Given the description of an element on the screen output the (x, y) to click on. 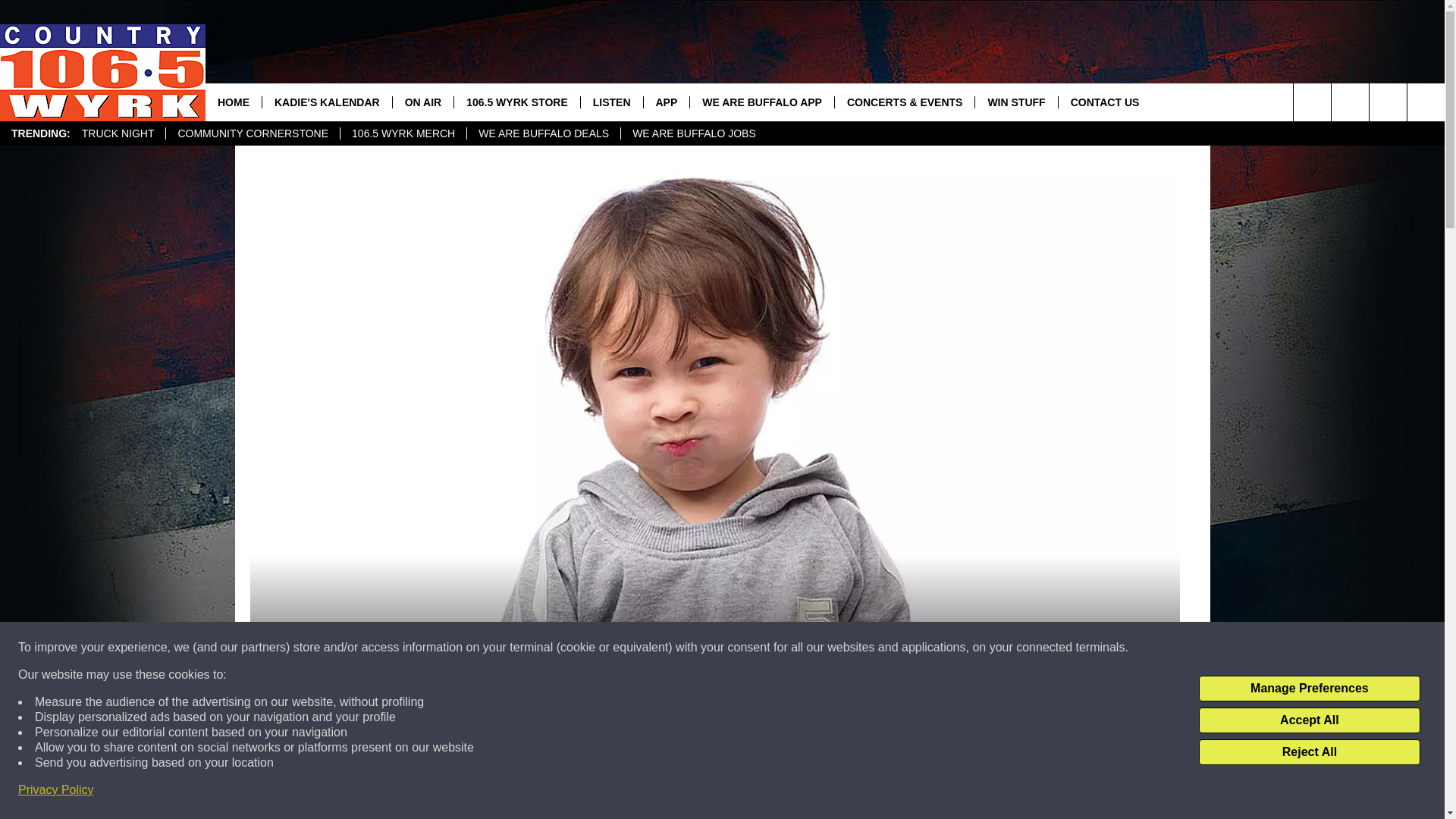
APP (666, 102)
HOME (233, 102)
LISTEN (611, 102)
106.5 WYRK MERCH (402, 133)
Manage Preferences (1309, 688)
Accept All (1309, 720)
WE ARE BUFFALO APP (761, 102)
WE ARE BUFFALO DEALS (542, 133)
COMMUNITY CORNERSTONE (252, 133)
KADIE'S KALENDAR (326, 102)
Share on Facebook (714, 791)
WE ARE BUFFALO JOBS (693, 133)
TRUCK NIGHT (117, 133)
WIN STUFF (1015, 102)
106.5 WYRK STORE (515, 102)
